Given the description of an element on the screen output the (x, y) to click on. 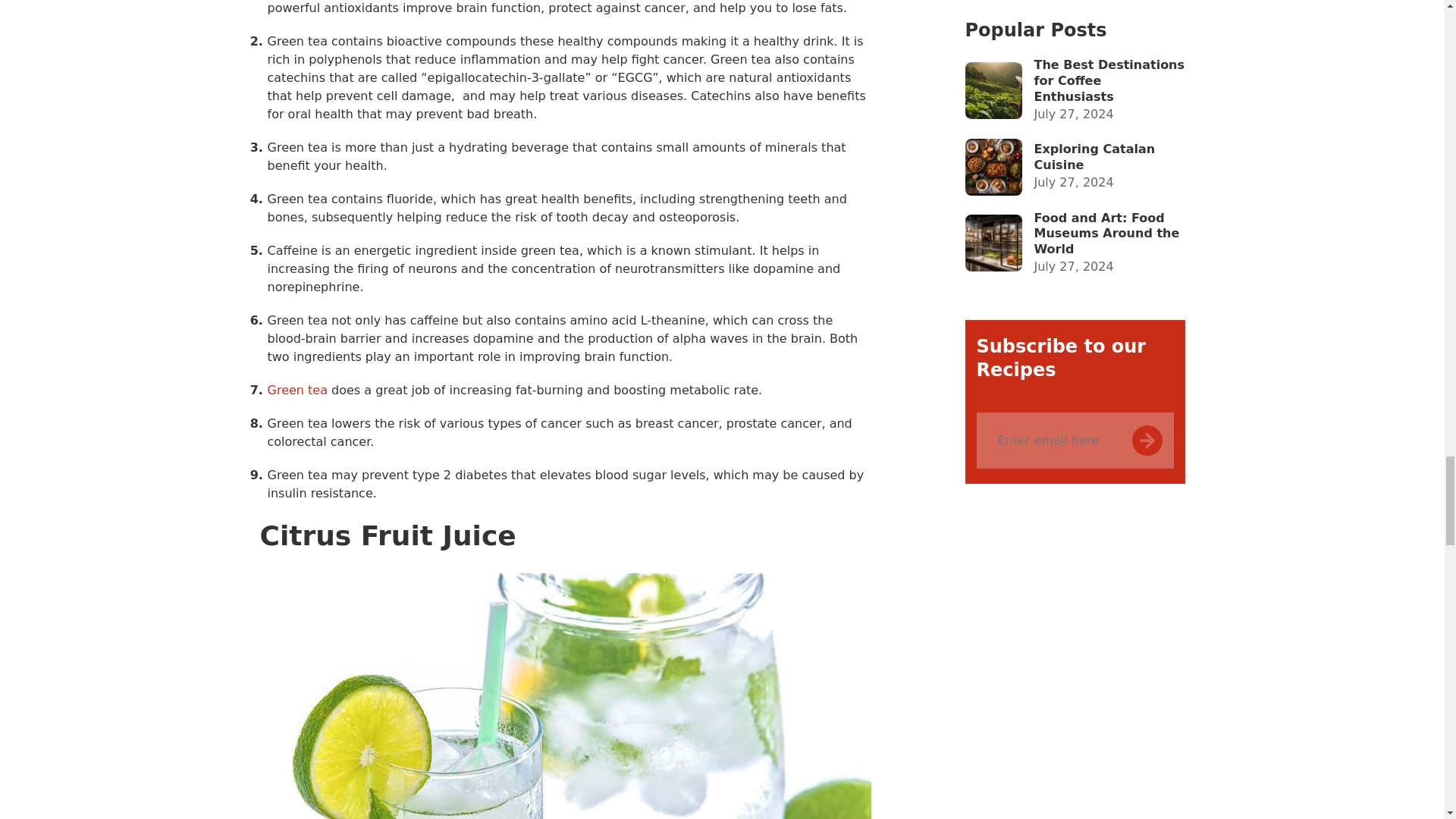
Green tea (296, 390)
